Given the description of an element on the screen output the (x, y) to click on. 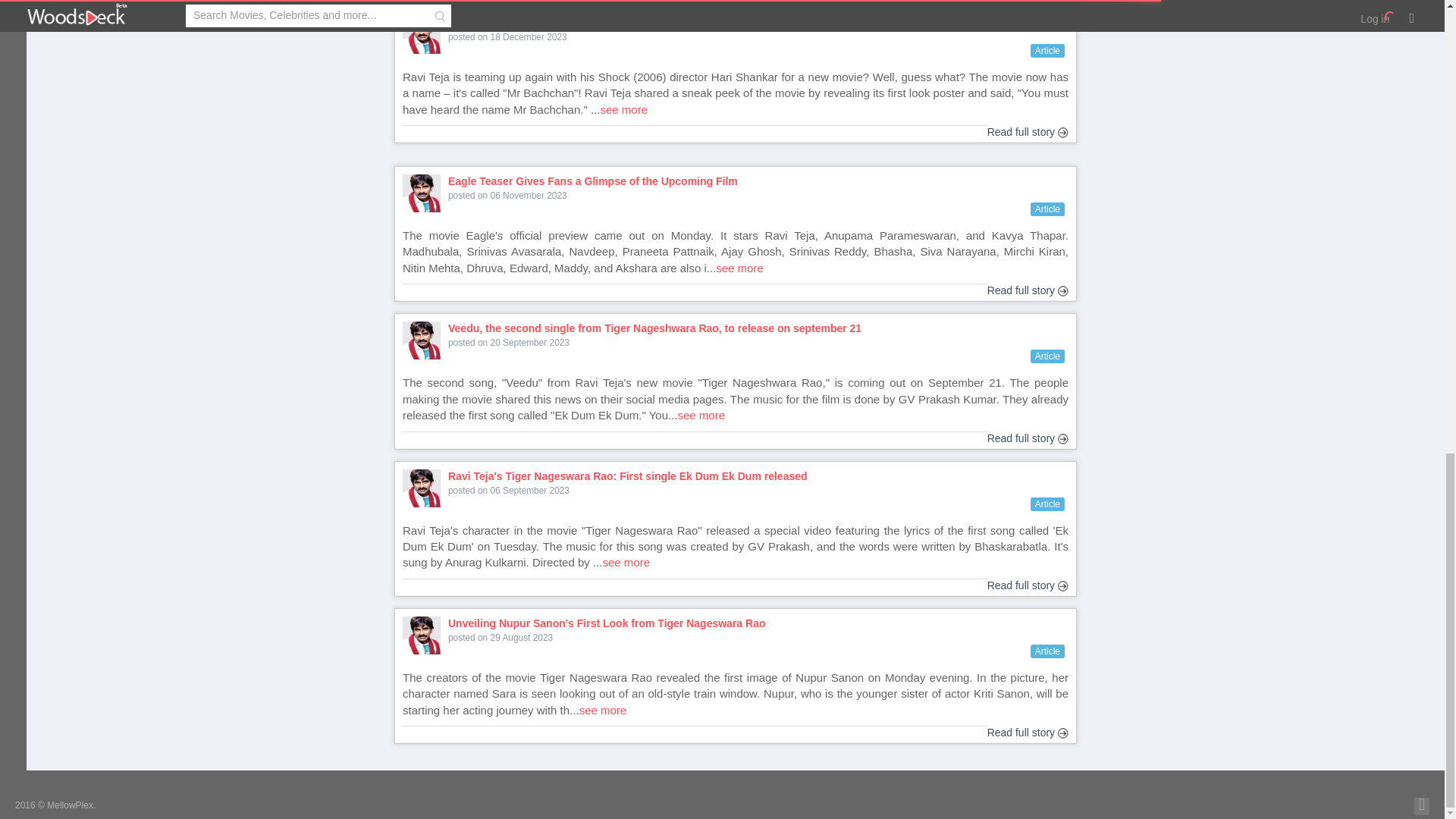
Read full story (1027, 132)
see more (623, 109)
Eagle Teaser Gives Fans a Glimpse of the Upcoming Film (761, 181)
